Given the description of an element on the screen output the (x, y) to click on. 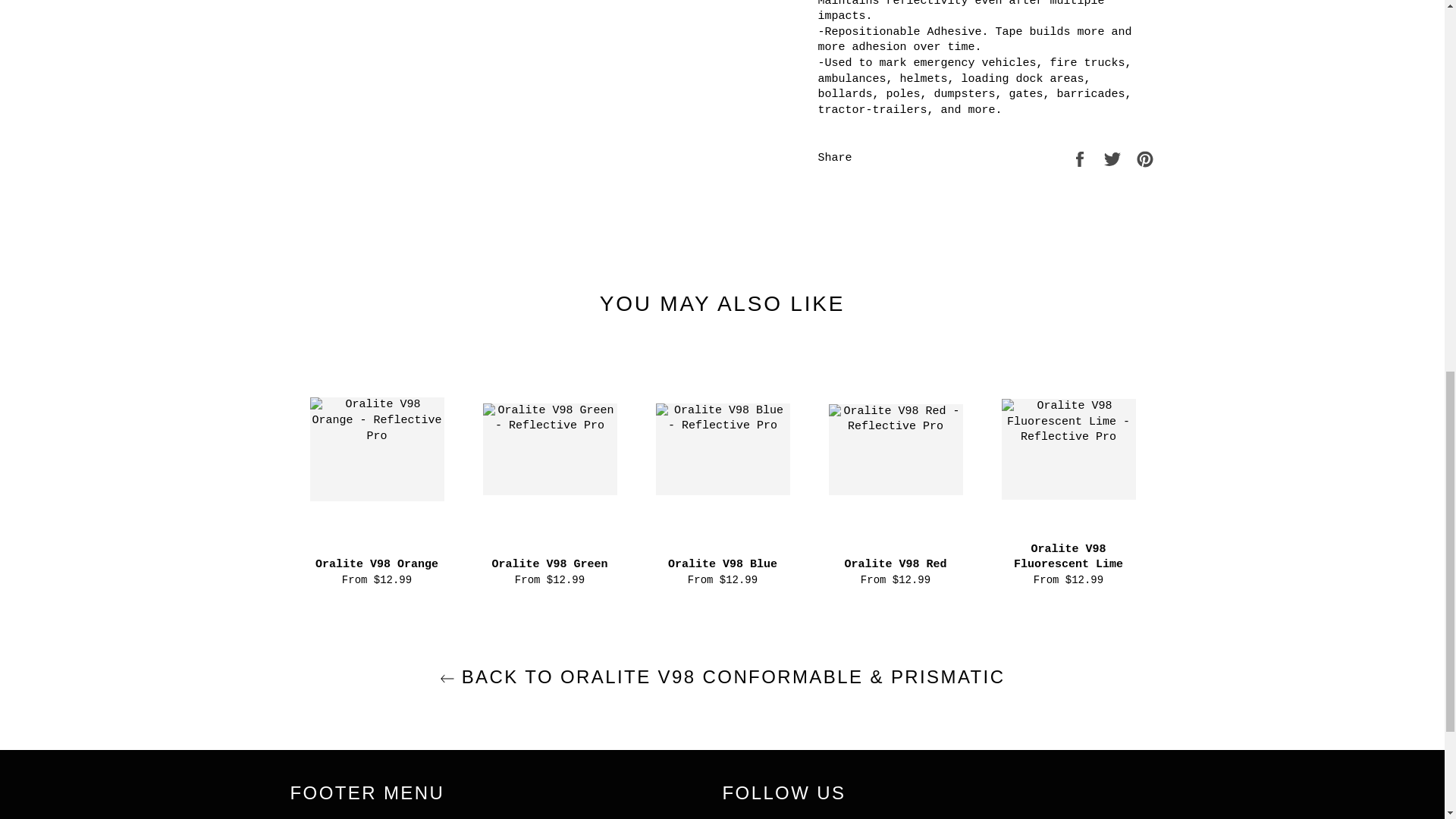
Tweet on Twitter (1115, 159)
Pin on Pinterest (1144, 159)
Share on Facebook (1083, 159)
